Given the description of an element on the screen output the (x, y) to click on. 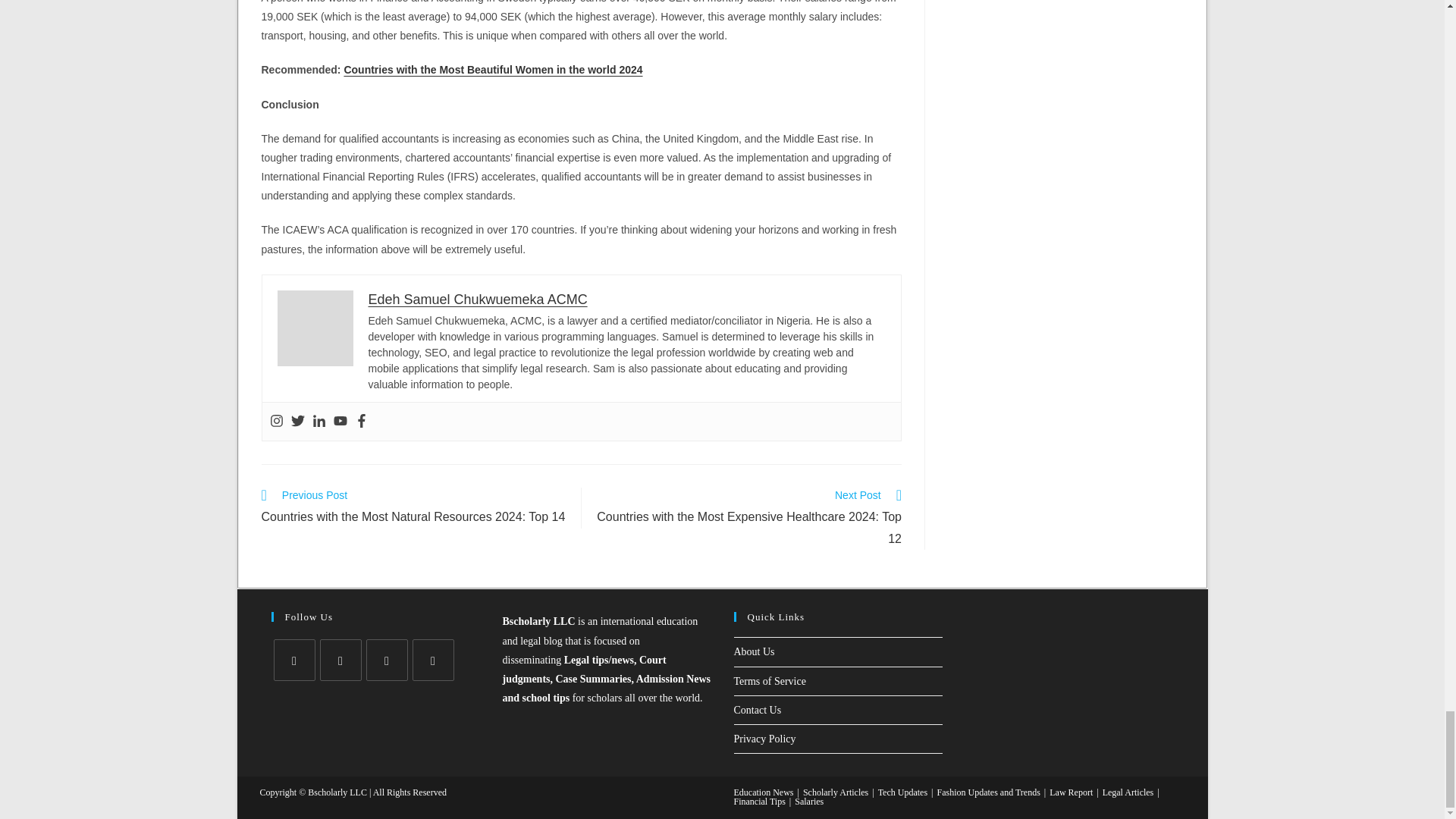
Youtube (340, 421)
Twitter (297, 421)
Countries with the Most Beautiful Women in the world 2024 (492, 69)
Facebook (361, 421)
Edeh Samuel Chukwuemeka ACMC (478, 299)
Linkedin (319, 421)
Instagram (276, 421)
